Given the description of an element on the screen output the (x, y) to click on. 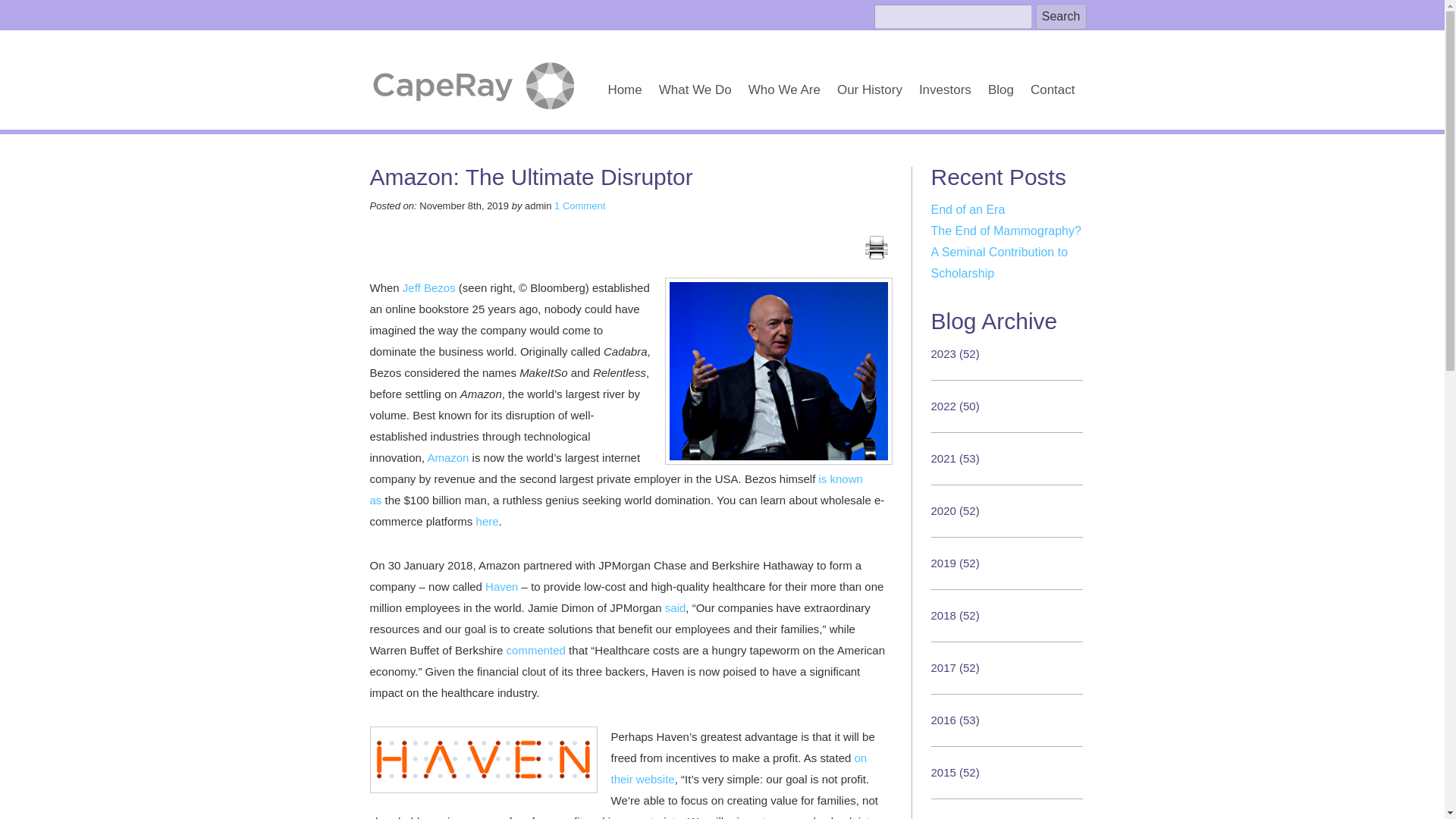
is known as (616, 489)
Our History (869, 91)
Search (1060, 16)
Jeff Bezos (429, 287)
commented (536, 649)
Search (1060, 16)
on their website (739, 768)
said (675, 607)
Amazon: The Ultimate Disruptor (531, 176)
Blog (1000, 91)
Amazon (447, 457)
Investors (944, 91)
Haven (501, 585)
Contact (1052, 91)
Home (624, 91)
